Given the description of an element on the screen output the (x, y) to click on. 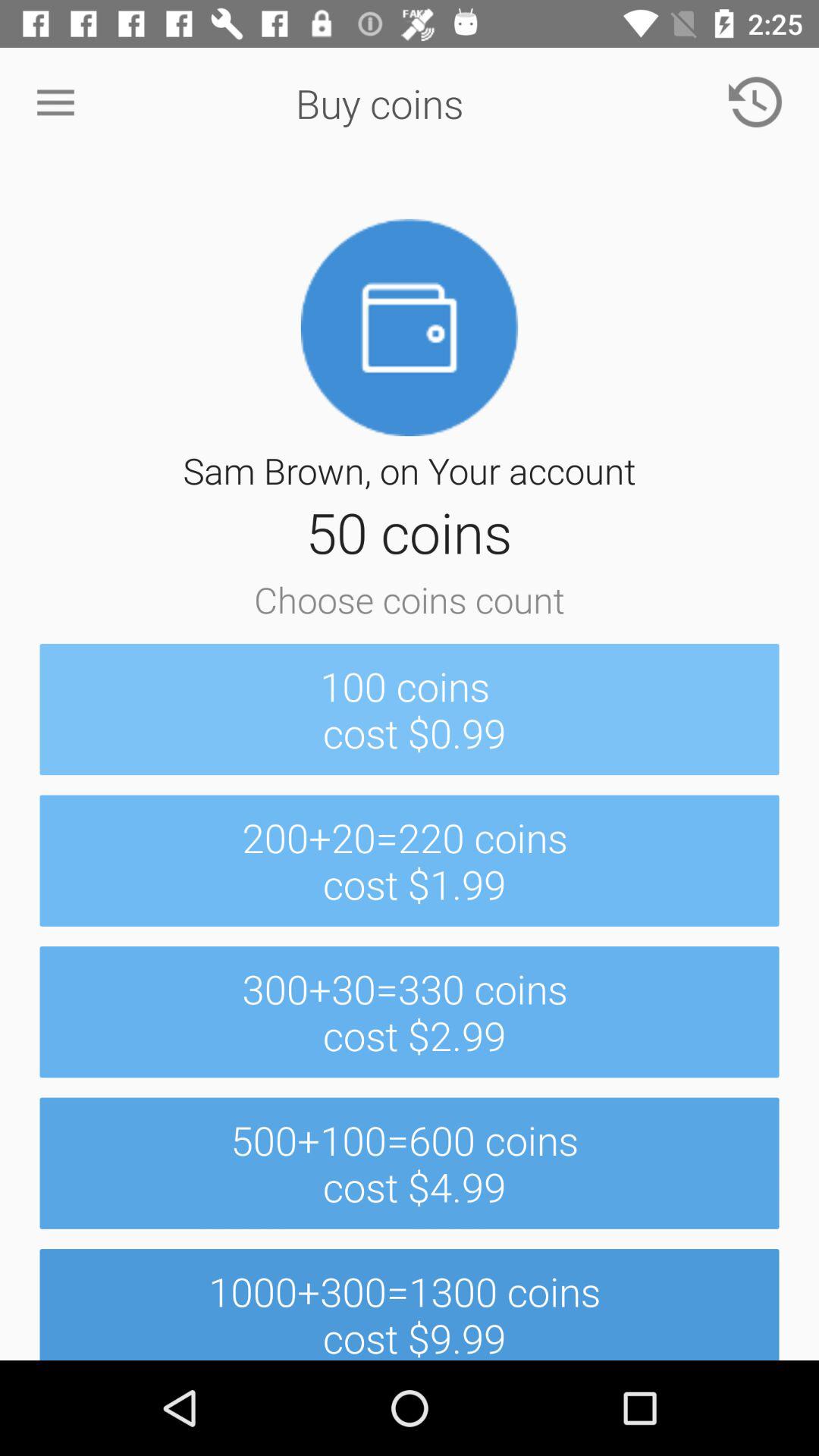
launch icon to the left of the buy coins item (55, 103)
